Given the description of an element on the screen output the (x, y) to click on. 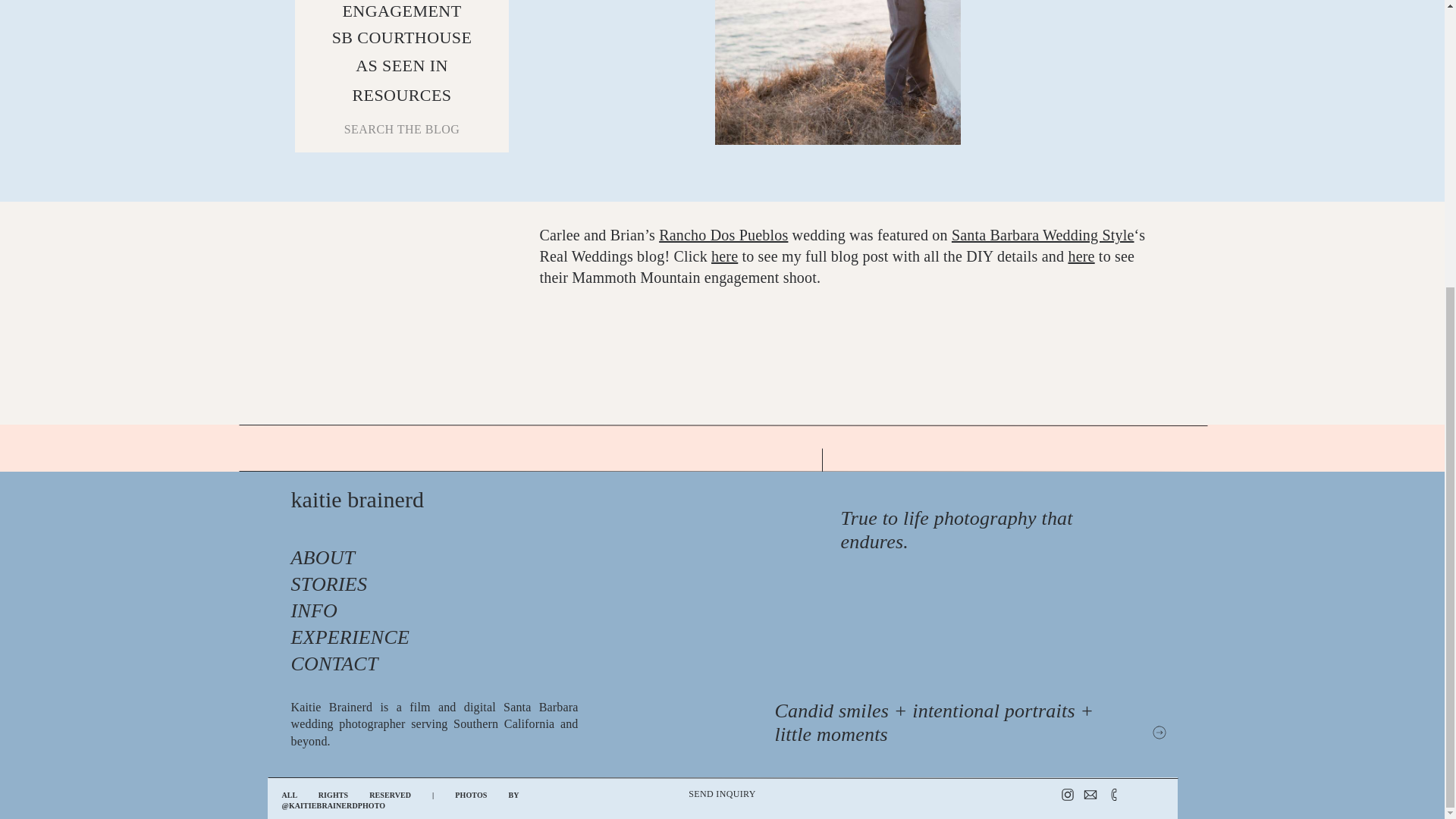
ENGAGEMENT (401, 12)
EXPERIENCE (336, 638)
ABOUT (315, 559)
kaitie brainerd (455, 512)
INFO (315, 611)
here (724, 256)
CONTACT (321, 664)
STORIES (318, 585)
SB COURTHOUSE (401, 37)
here (1080, 256)
